Given the description of an element on the screen output the (x, y) to click on. 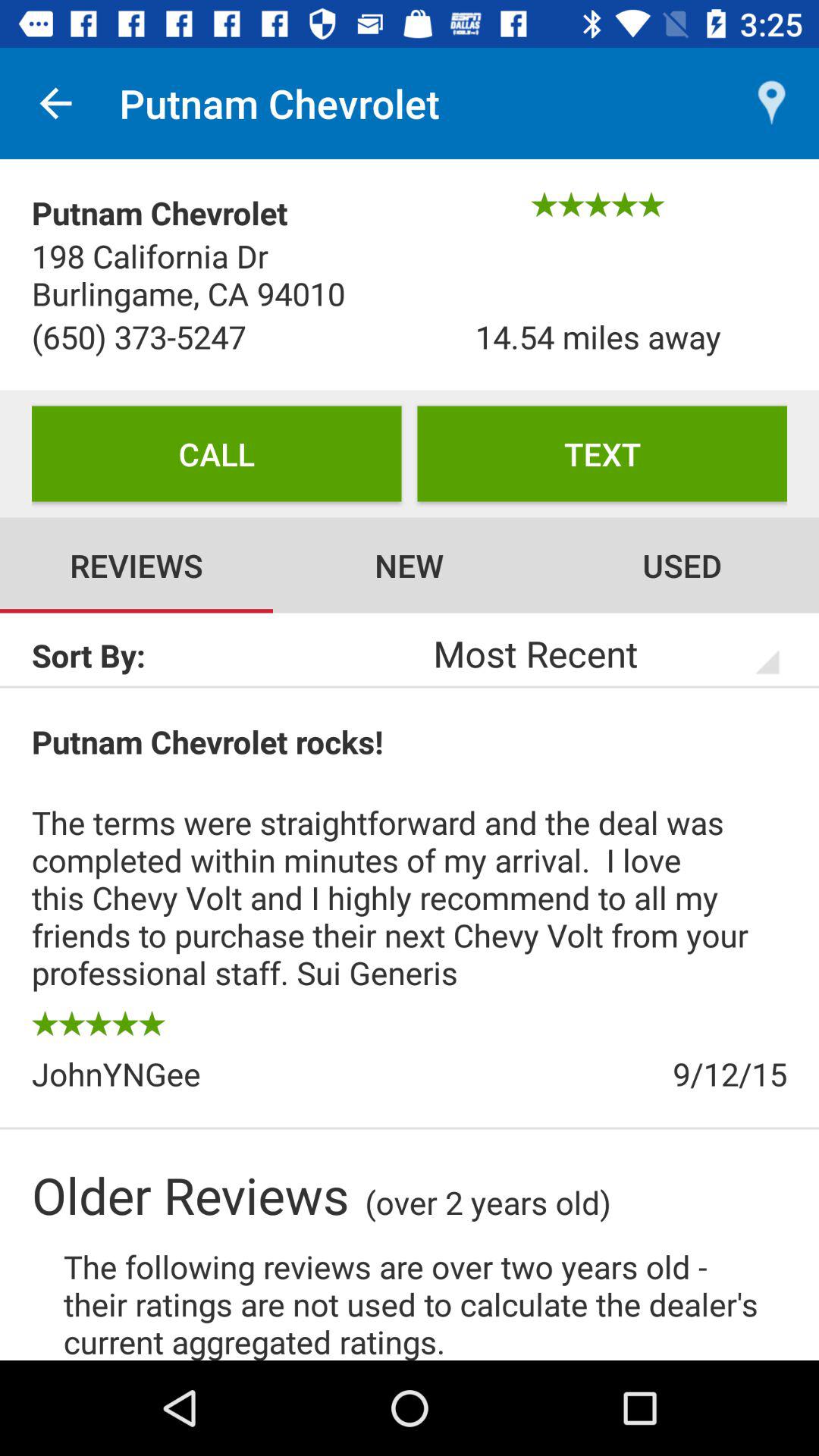
tap the item next to text (216, 453)
